Given the description of an element on the screen output the (x, y) to click on. 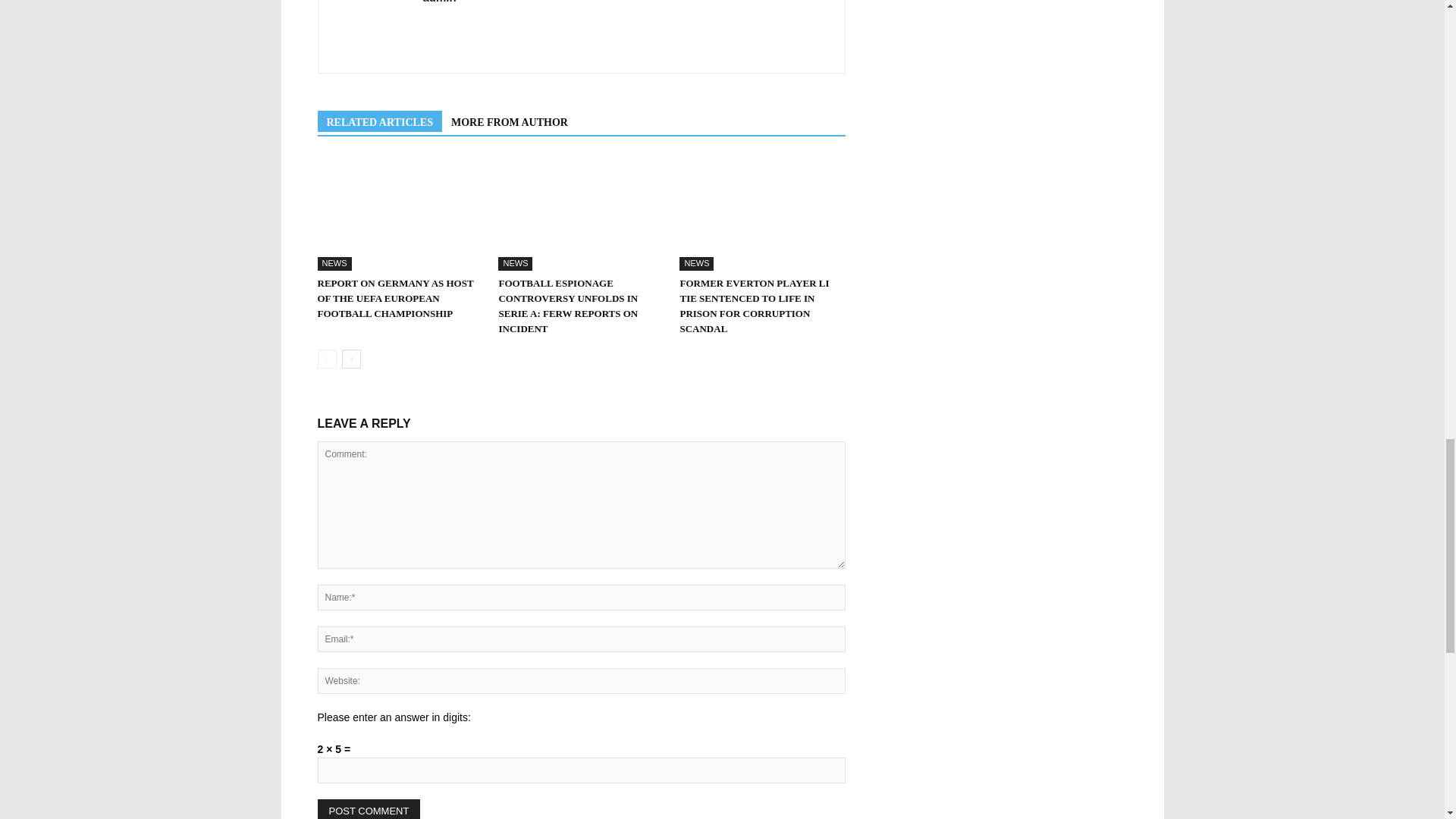
Post Comment (368, 809)
